Given the description of an element on the screen output the (x, y) to click on. 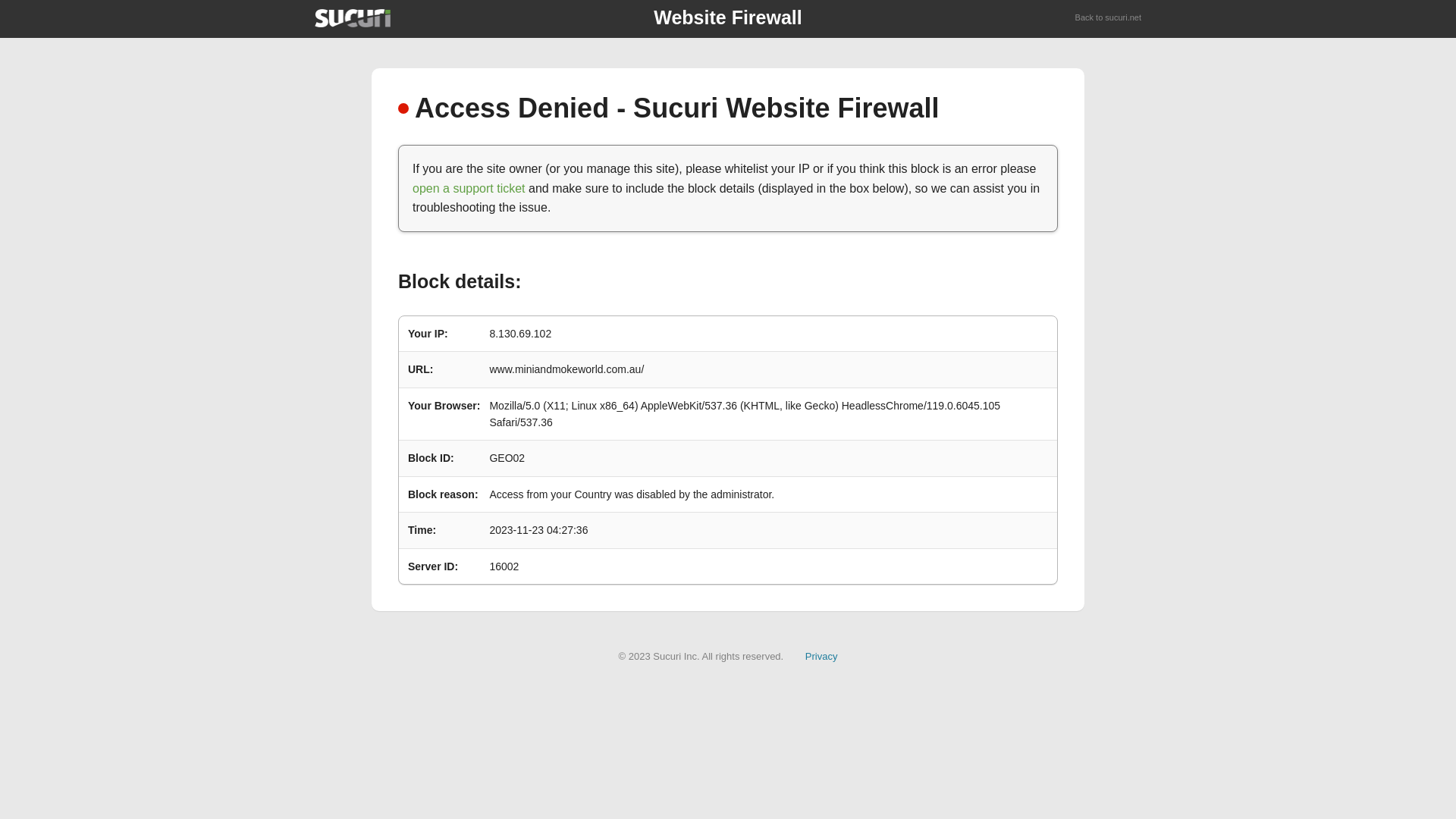
Back to sucuri.net Element type: text (1108, 18)
Privacy Element type: text (821, 656)
open a support ticket Element type: text (468, 188)
